Given the description of an element on the screen output the (x, y) to click on. 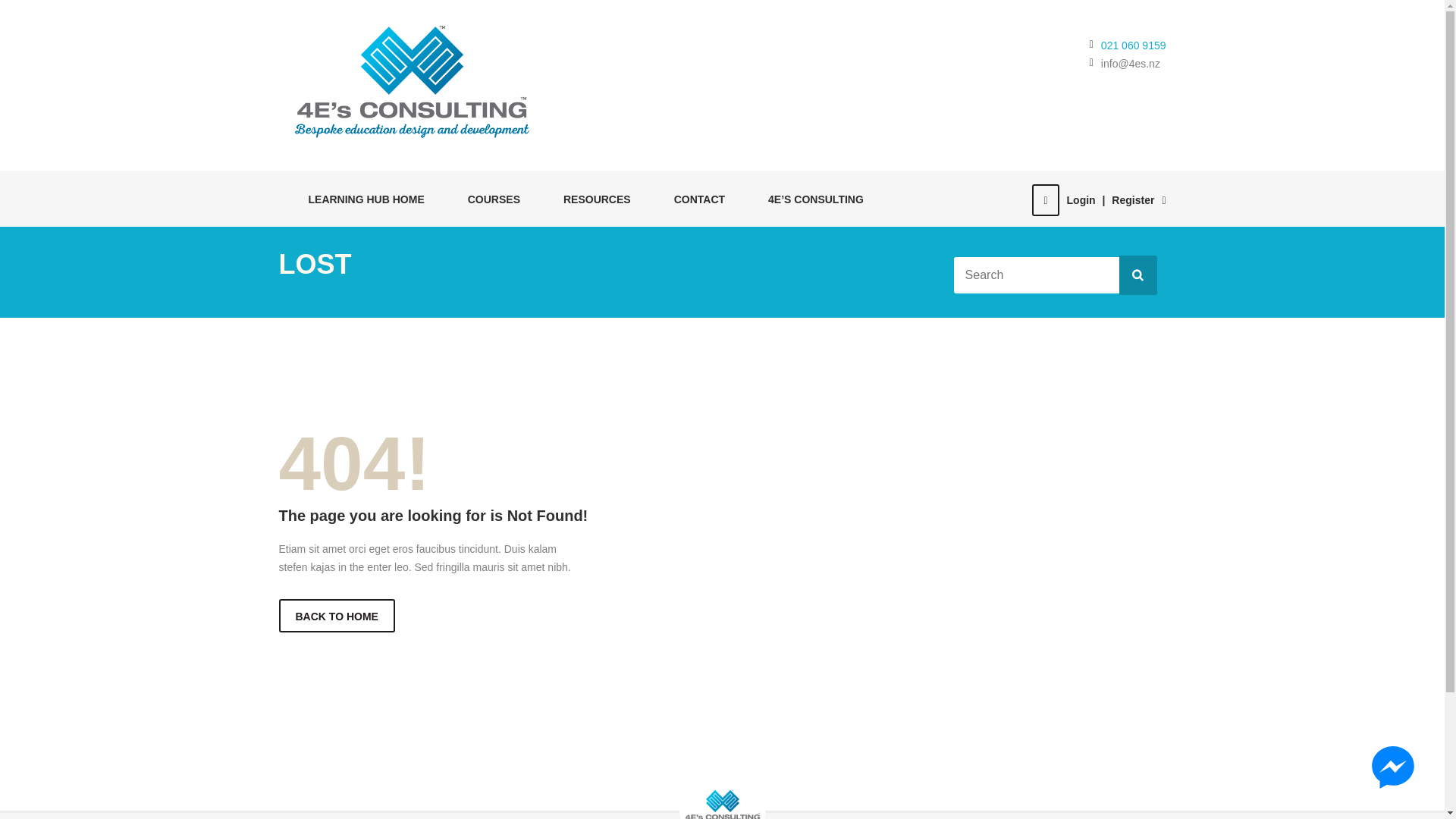
RESOURCES (589, 198)
Footer Logo (722, 802)
BACK TO HOME (336, 615)
CONTACT (691, 198)
LEARNING HUB HOME (358, 198)
COURSES (486, 198)
